Given the description of an element on the screen output the (x, y) to click on. 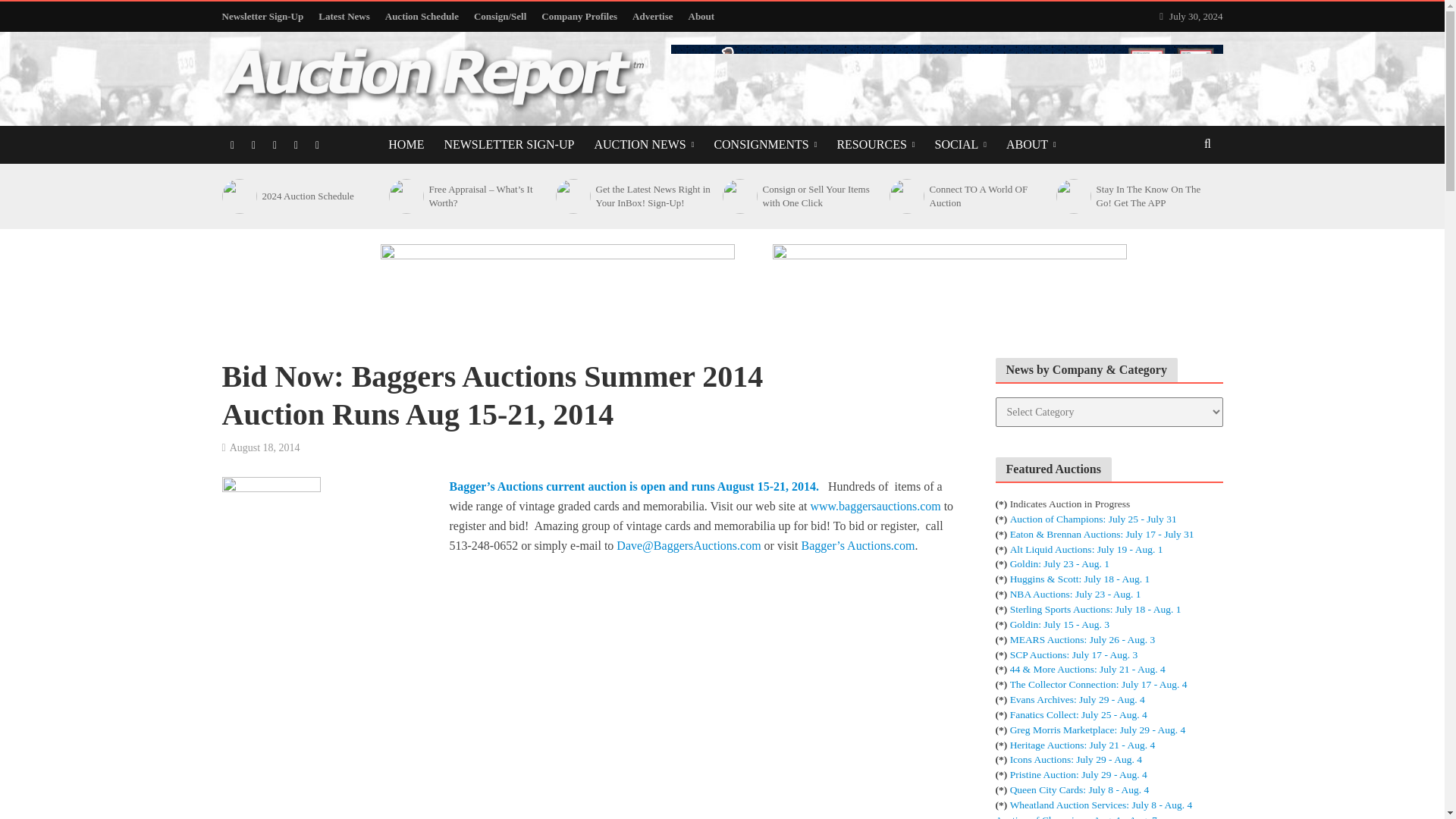
RESOURCES (875, 144)
Latest News (344, 16)
SOCIAL (959, 144)
About (701, 16)
HOME (405, 144)
Consign or Sell Your Items with One Click (738, 196)
2024 Auction Schedule (237, 196)
CONSIGNMENTS (765, 144)
Stay In The Know On The Go! Get The APP (1071, 196)
NEWSLETTER SIGN-UP (508, 144)
Auction Schedule (421, 16)
Newsletter Sign-Up (266, 16)
Company Profiles (579, 16)
AUCTION NEWS (643, 144)
Get the Latest News Right in Your InBox! Sign-Up! (571, 196)
